Given the description of an element on the screen output the (x, y) to click on. 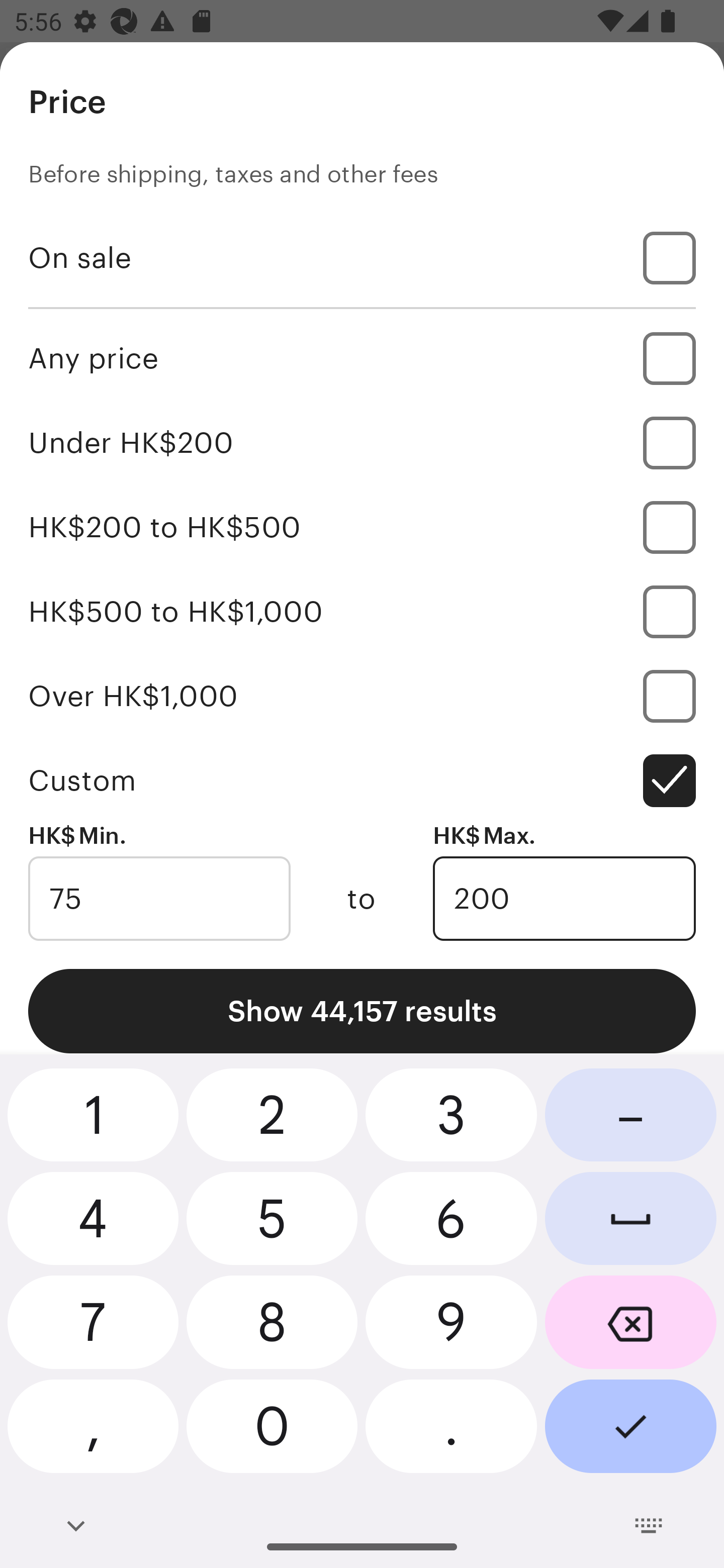
On sale (362, 257)
Any price (362, 357)
Under HK$200 (362, 441)
HK$200 to HK$500 (362, 526)
HK$500 to HK$1,000 (362, 611)
Over HK$1,000 (362, 695)
Custom (362, 780)
75 (159, 898)
200 (563, 898)
Show 44,157 results (361, 1011)
